Given the description of an element on the screen output the (x, y) to click on. 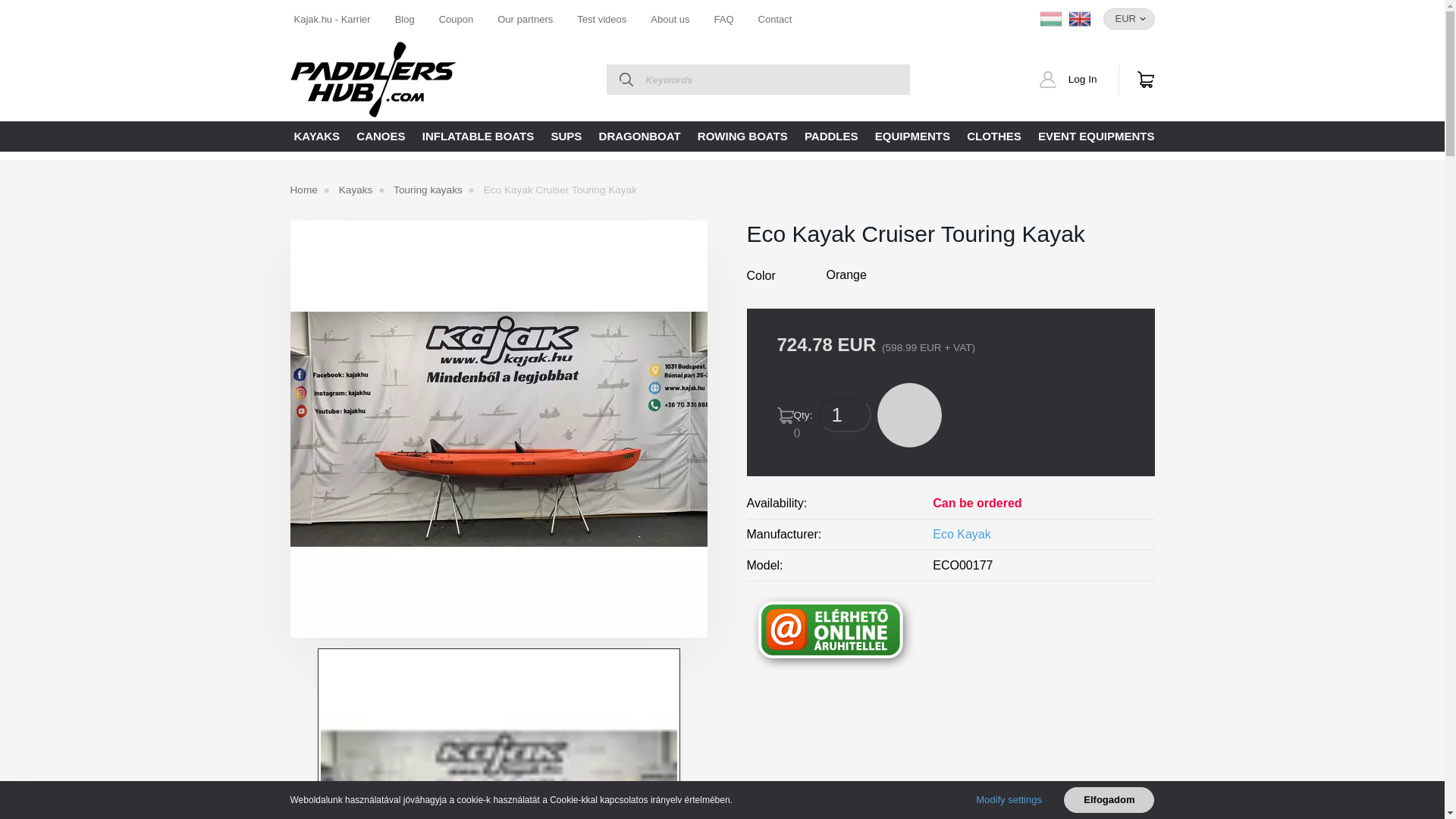
Our partners (524, 18)
Kajak.hu - Karrier (338, 18)
CANOES (380, 136)
Kajak.hu (373, 79)
About us (670, 18)
Contact (775, 18)
KAYAKS (317, 136)
INFLATABLE BOATS (478, 136)
1 (844, 415)
Test videos (601, 18)
PADDLES (832, 136)
Contact (775, 18)
Test videos (601, 18)
Coupon (456, 18)
